Given the description of an element on the screen output the (x, y) to click on. 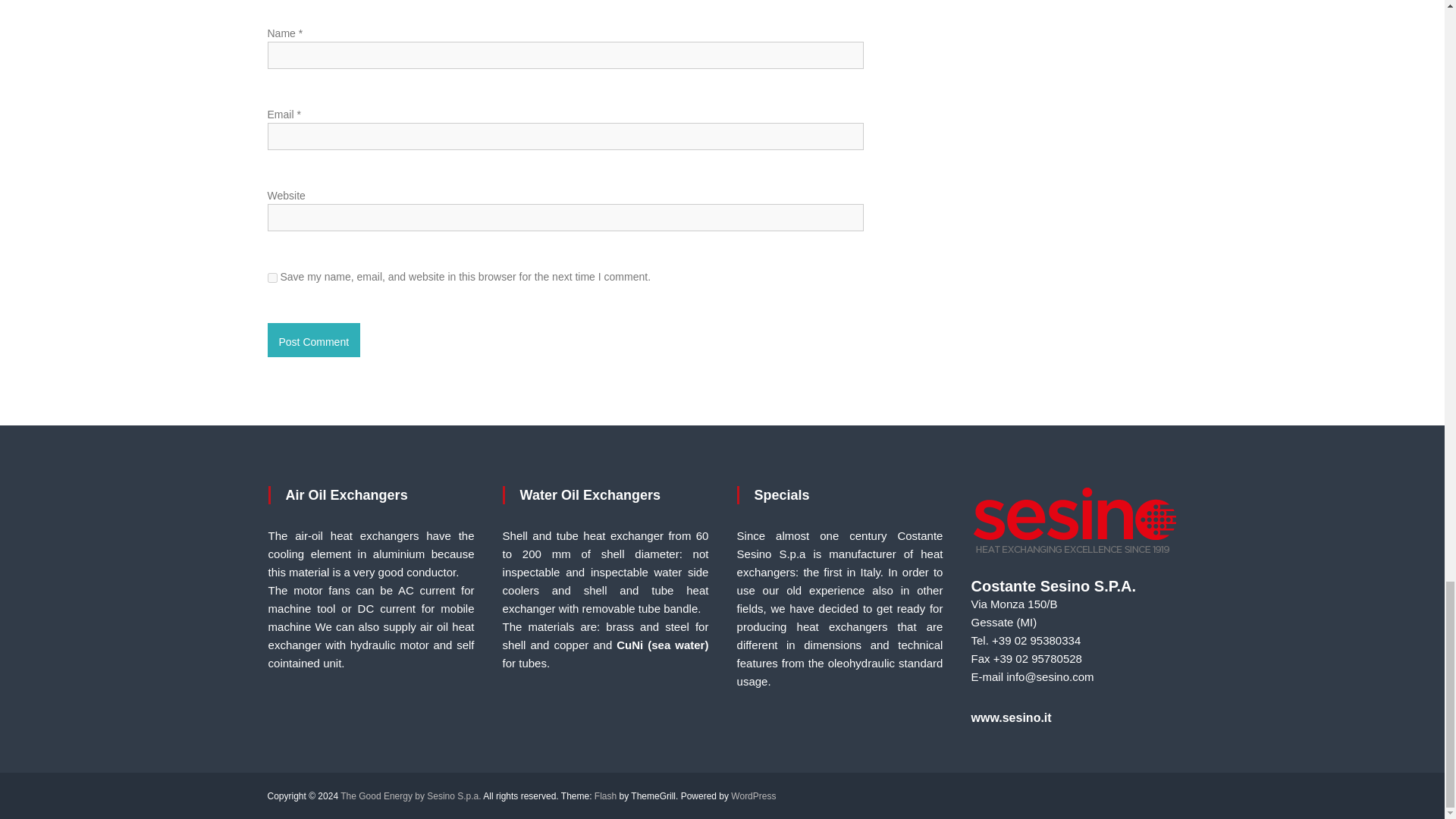
Post Comment (312, 339)
yes (271, 277)
Post Comment (312, 339)
